Given the description of an element on the screen output the (x, y) to click on. 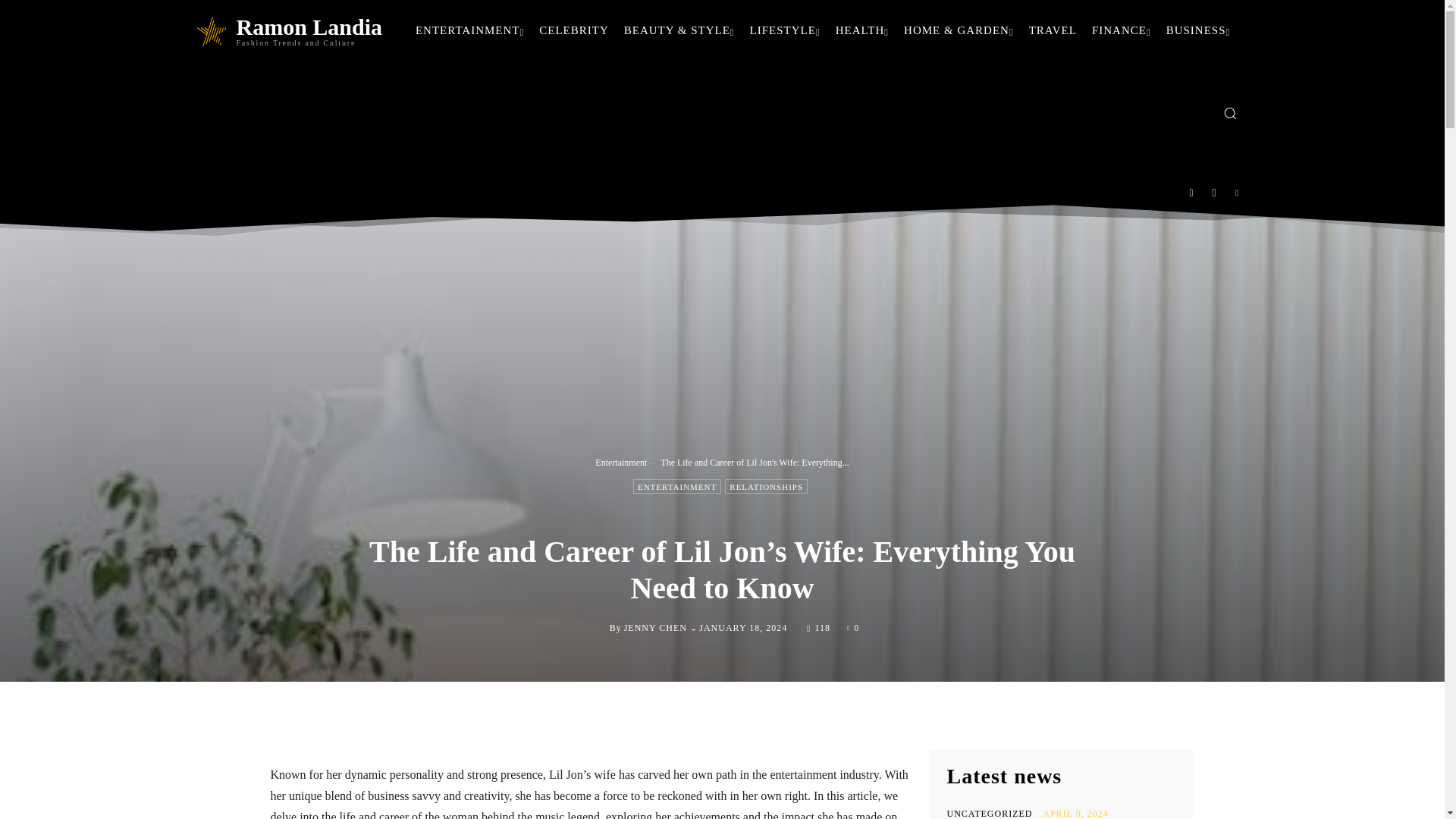
Facebook (1191, 192)
Jenny Chen (597, 628)
Instagram (1214, 192)
Twitter (1237, 192)
View all posts in Entertainment (620, 462)
